Given the description of an element on the screen output the (x, y) to click on. 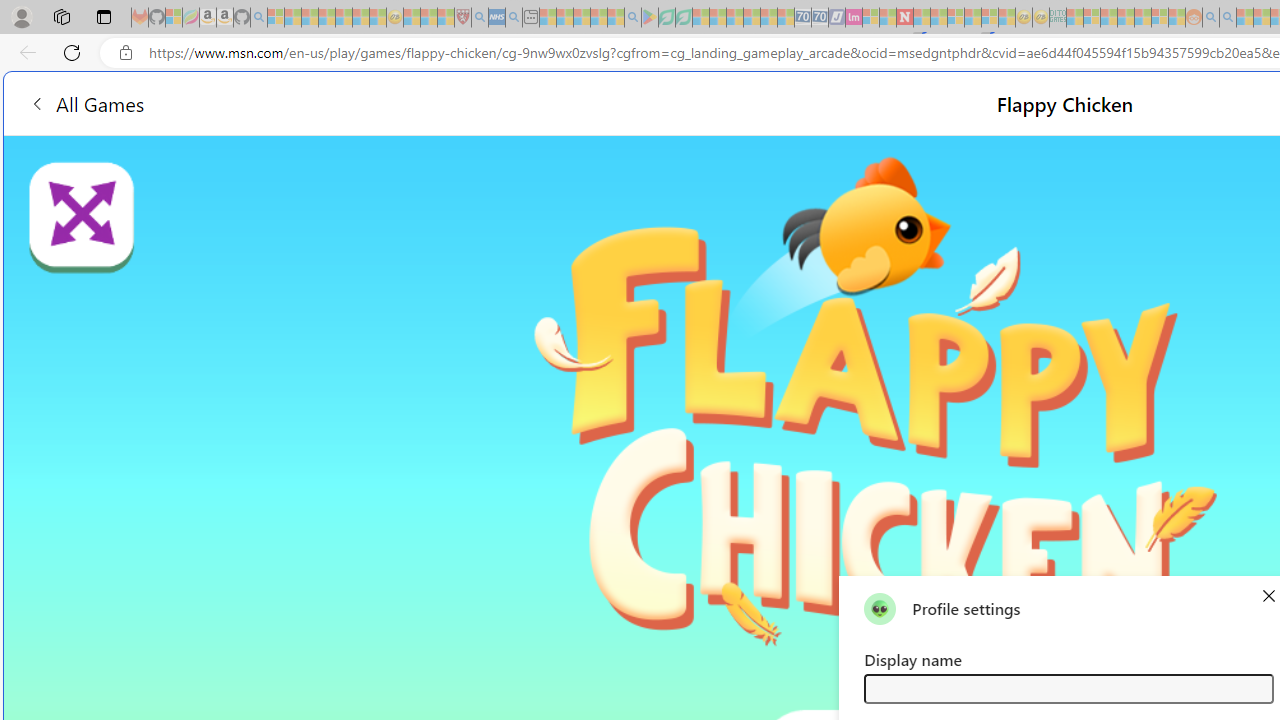
Kinda Frugal - MSN - Sleeping (1142, 17)
google - Search - Sleeping (632, 17)
